Given the description of an element on the screen output the (x, y) to click on. 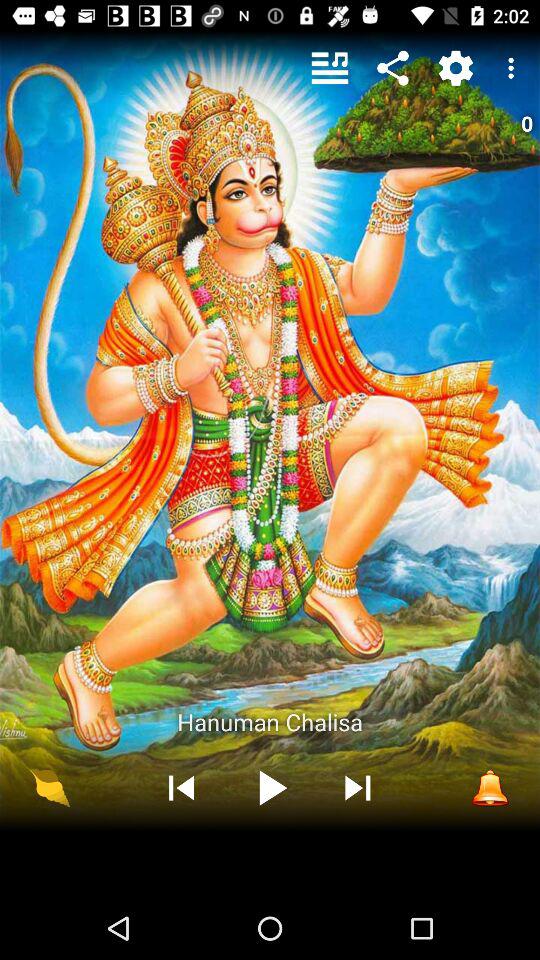
open the item at the bottom right corner (490, 787)
